Given the description of an element on the screen output the (x, y) to click on. 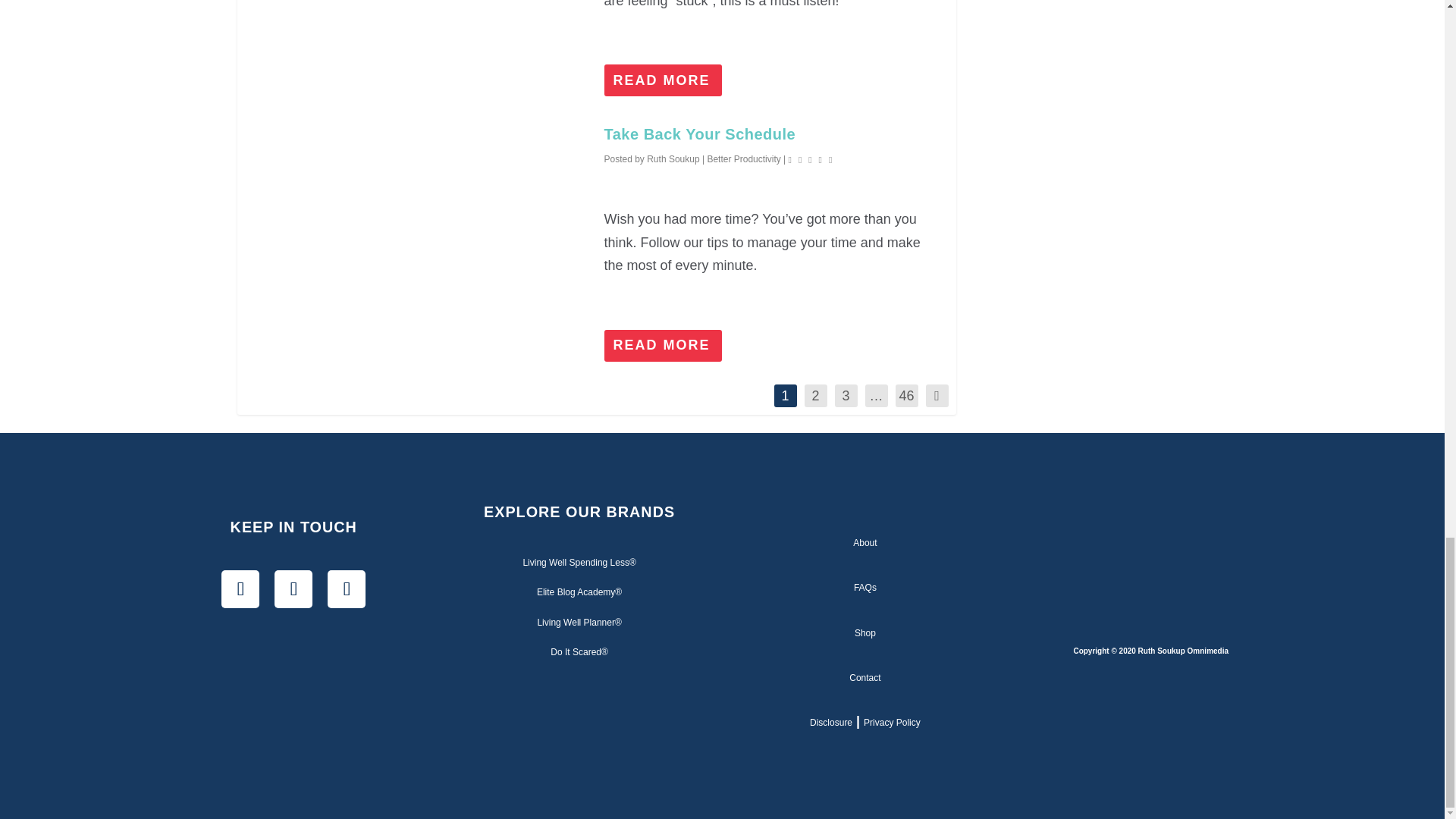
READ MORE (663, 80)
Take Back Your Schedule (699, 134)
Better Productivity (743, 158)
Ruth Soukup (672, 158)
Posts by Ruth Soukup (672, 158)
Take Back Your Schedule (419, 238)
